Given the description of an element on the screen output the (x, y) to click on. 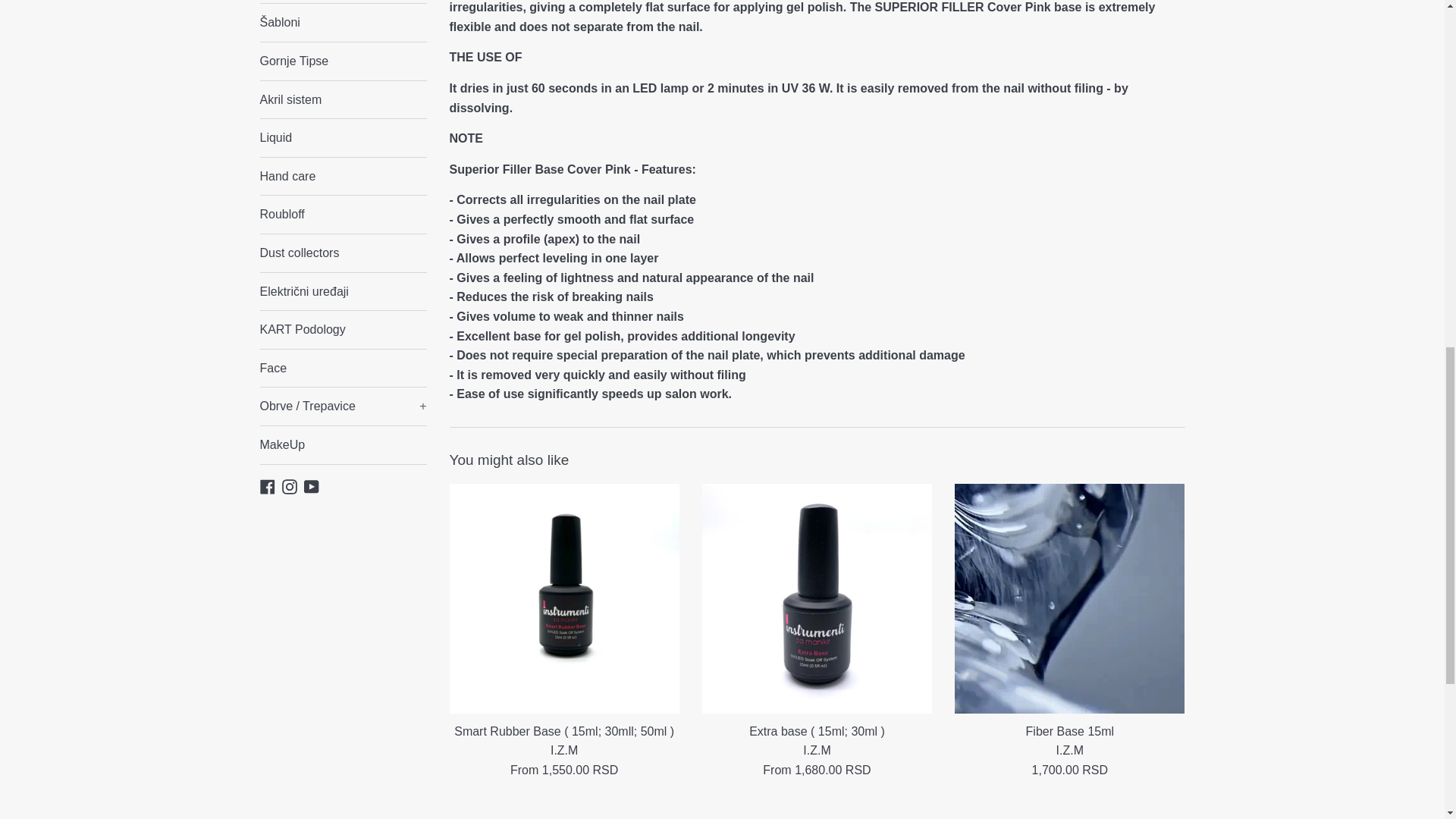
Manikirshop on Facebook (267, 486)
Manikirshop on Instagram (289, 486)
Manikirshop on YouTube (311, 486)
Fiber Base 15ml (1070, 598)
